Given the description of an element on the screen output the (x, y) to click on. 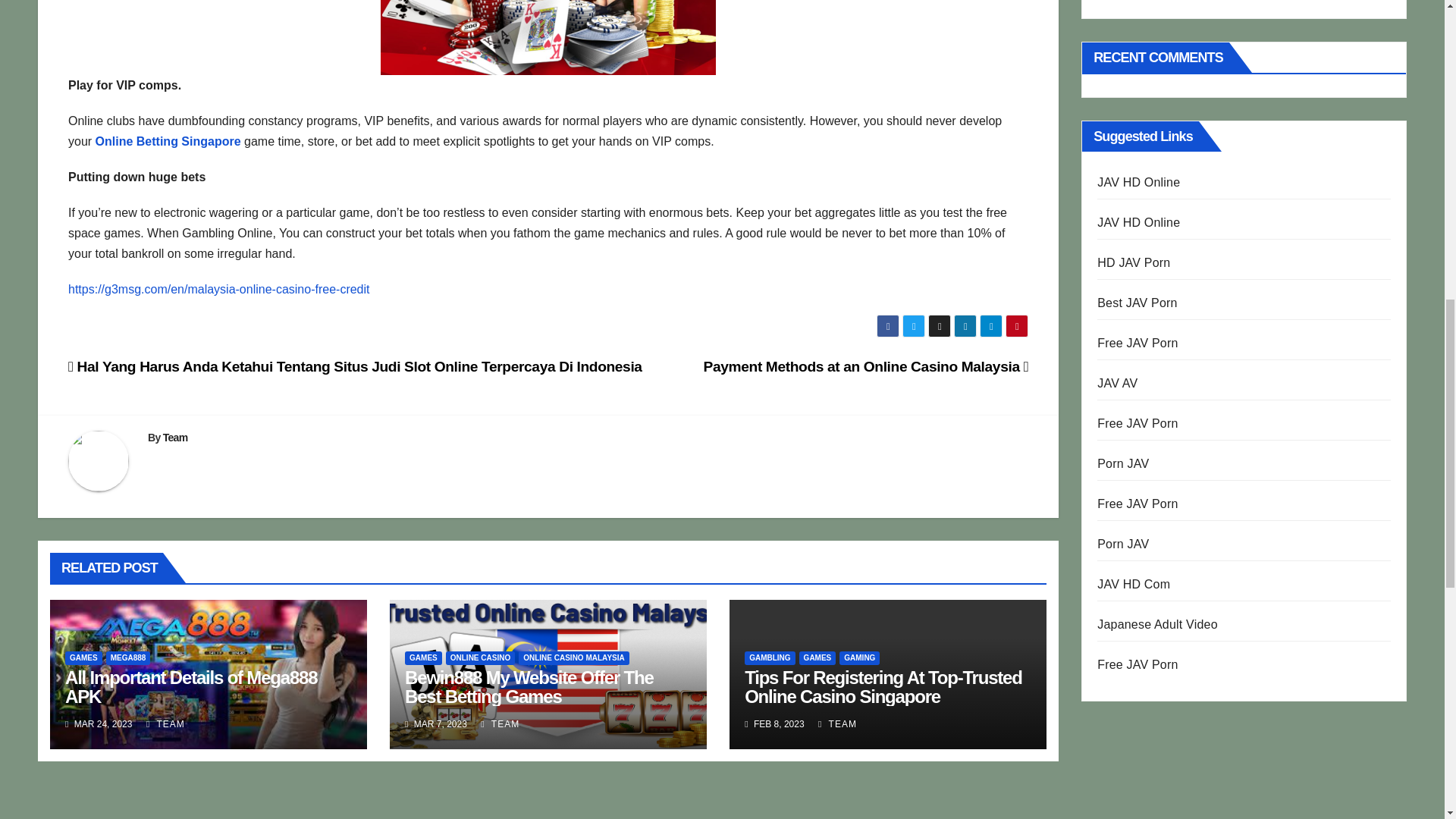
All Important Details of Mega888 APK (191, 686)
Online Betting Singapore (168, 141)
GAMES (423, 658)
Permalink to: All Important Details of Mega888 APK (191, 686)
TEAM (165, 724)
GAMES (83, 658)
Payment Methods at an Online Casino Malaysia (866, 366)
MEGA888 (128, 658)
Team (175, 437)
